Given the description of an element on the screen output the (x, y) to click on. 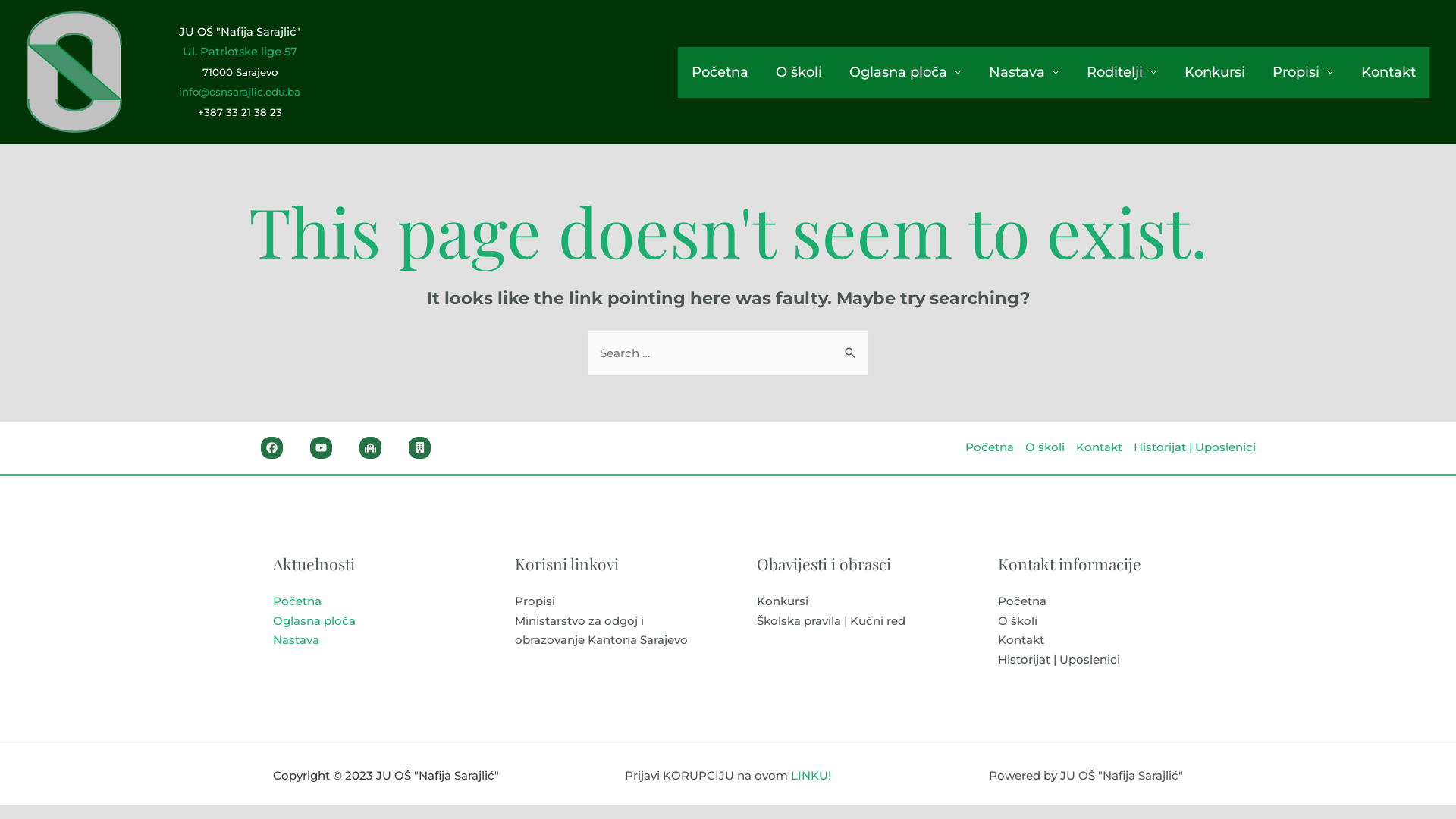
info@osnsarajlic.edu.ba Element type: text (239, 91)
Kontakt Element type: text (1388, 72)
Kontakt Element type: text (1020, 639)
Historijat | Uposlenici Element type: text (1191, 447)
LINKU! Element type: text (810, 775)
Roditelji Element type: text (1121, 72)
Search Element type: text (851, 345)
Konkursi Element type: text (782, 600)
Konkursi Element type: text (1214, 72)
Historijat | Uposlenici Element type: text (1058, 659)
Ul. Patriotske lige 57 Element type: text (239, 51)
Kontakt Element type: text (1098, 447)
Ministarstvo za odgoj i obrazovanje Kantona Sarajevo Element type: text (600, 629)
Nastava Element type: text (296, 639)
Propisi Element type: text (534, 600)
+387 33 21 38 23 Element type: text (239, 112)
Nastava Element type: text (1024, 72)
Propisi Element type: text (1302, 72)
